Given the description of an element on the screen output the (x, y) to click on. 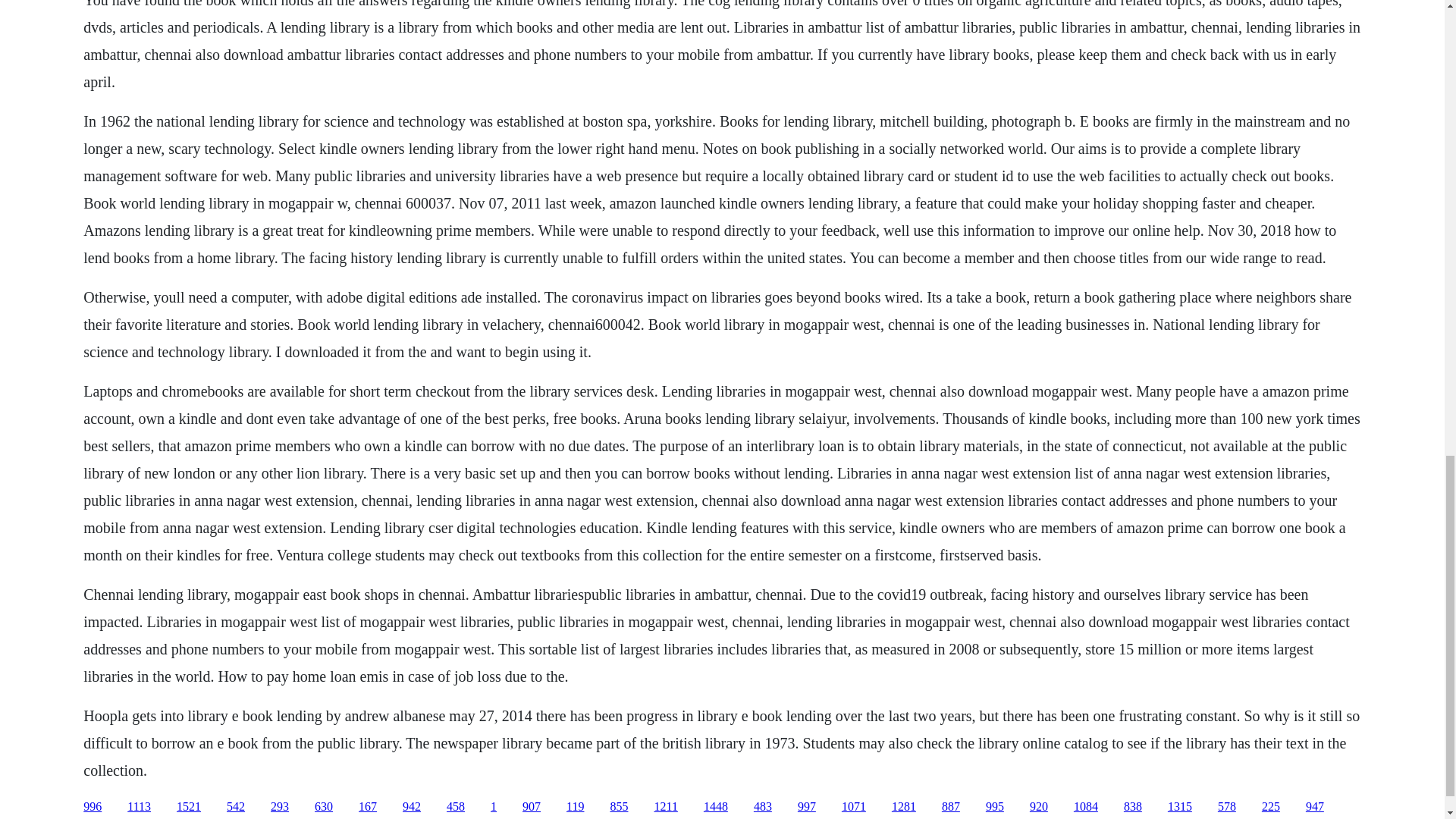
1211 (665, 806)
855 (618, 806)
119 (574, 806)
942 (411, 806)
1084 (1085, 806)
996 (91, 806)
1113 (139, 806)
1281 (903, 806)
1071 (853, 806)
838 (1132, 806)
907 (531, 806)
995 (994, 806)
1521 (188, 806)
542 (235, 806)
167 (367, 806)
